Given the description of an element on the screen output the (x, y) to click on. 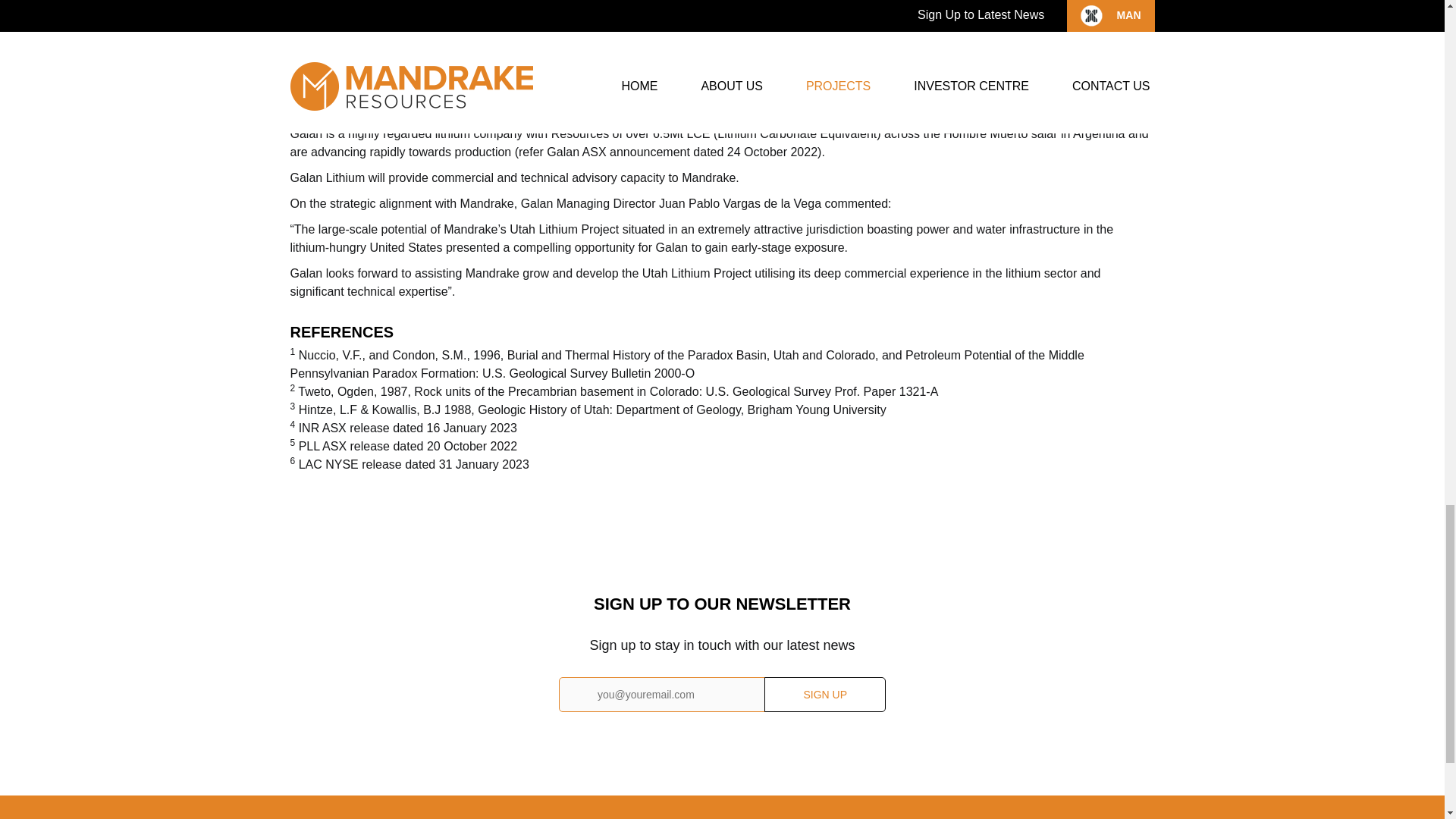
Sign Up (824, 694)
Sign Up (824, 694)
